Given the description of an element on the screen output the (x, y) to click on. 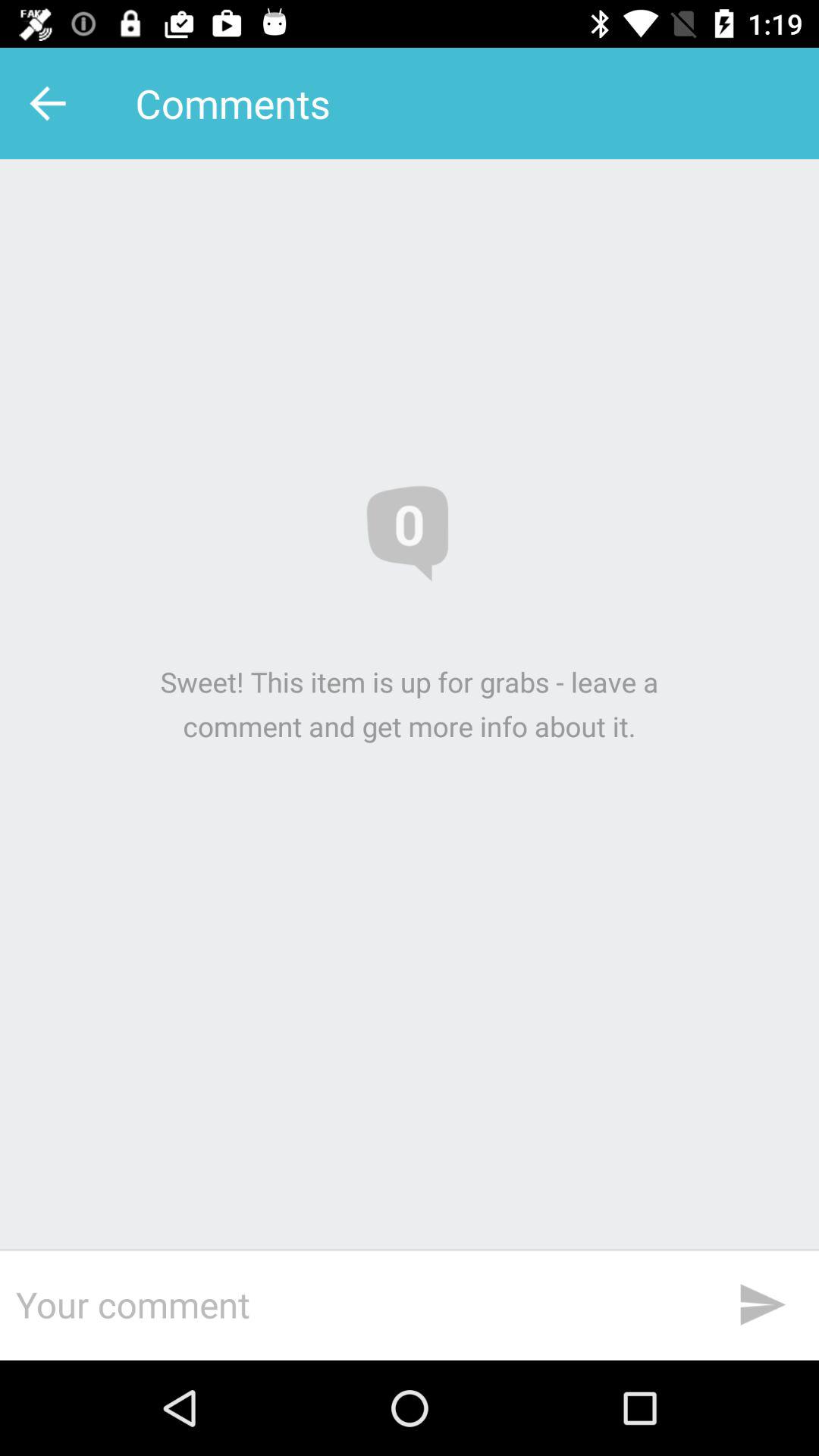
choose item next to the comments (51, 102)
